Given the description of an element on the screen output the (x, y) to click on. 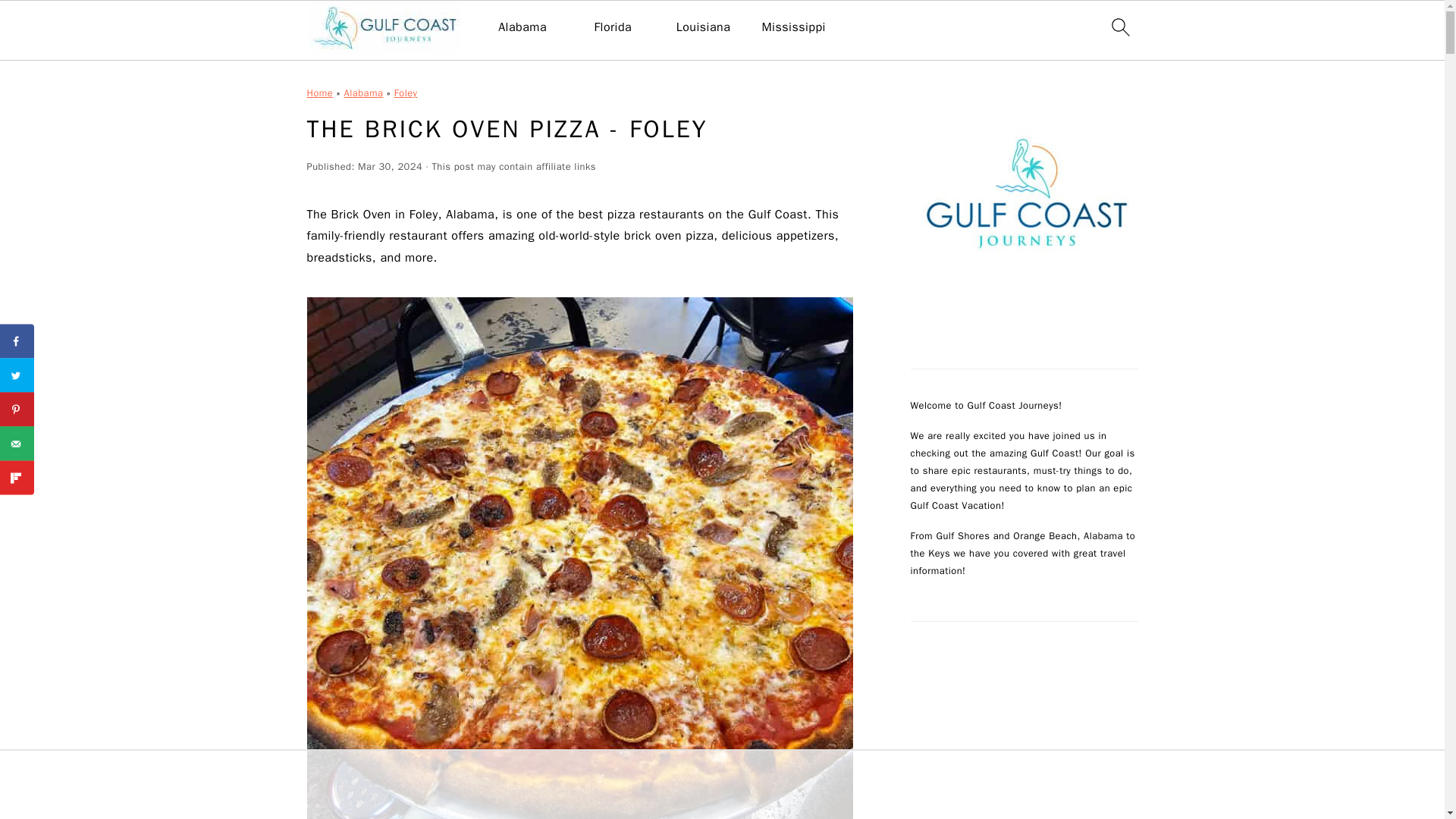
Louisiana (703, 27)
Alabama (363, 92)
Share on Flipboard (16, 478)
Foley (405, 92)
Save to Pinterest (16, 409)
Florida (612, 27)
Mississippi (793, 27)
Share on Twitter (16, 374)
Home (319, 92)
Share on Facebook (16, 341)
